Given the description of an element on the screen output the (x, y) to click on. 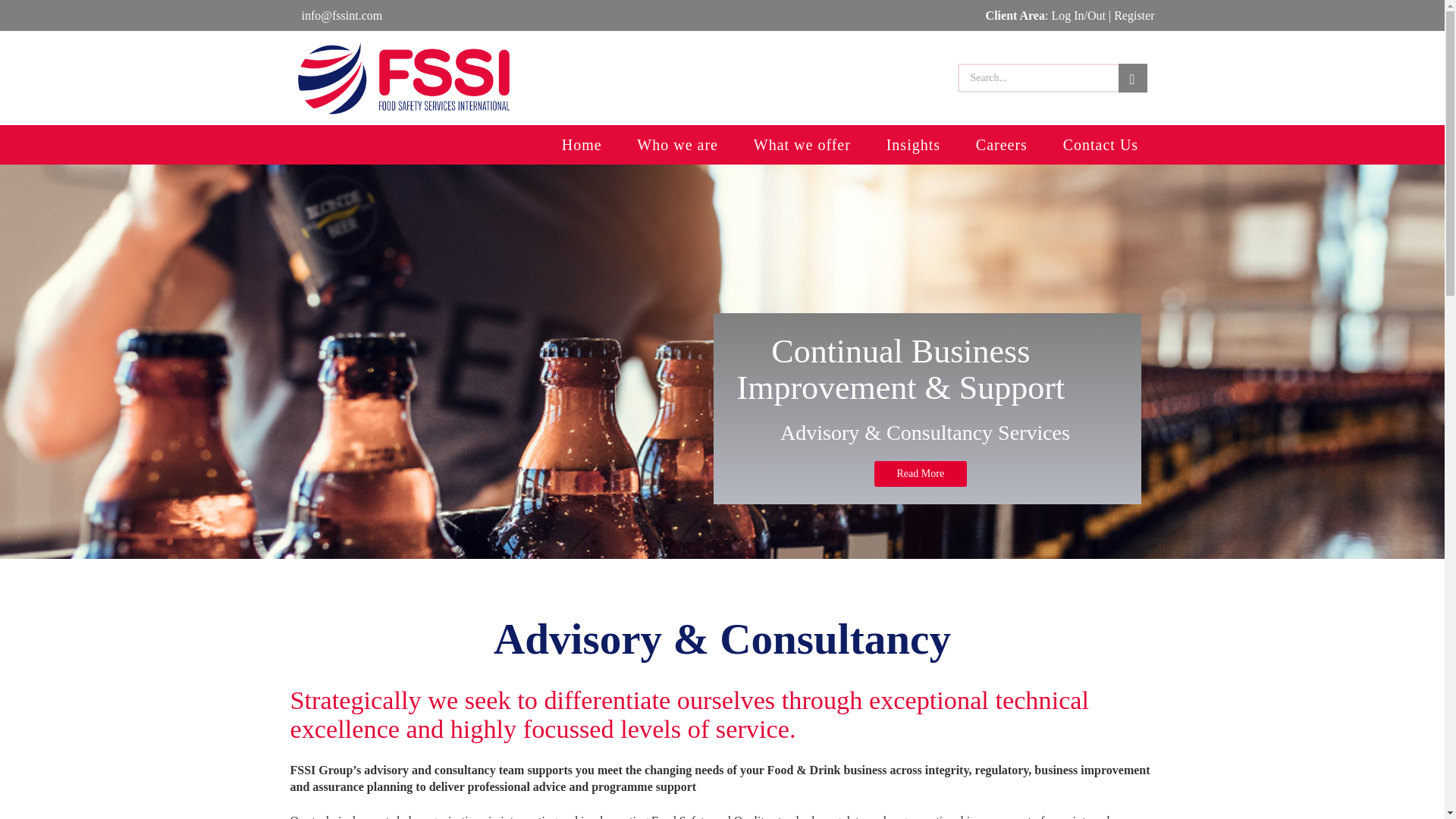
Register (1133, 15)
Home (580, 144)
SEARCH (1132, 77)
Who we are (677, 144)
What we offer (801, 144)
